Given the description of an element on the screen output the (x, y) to click on. 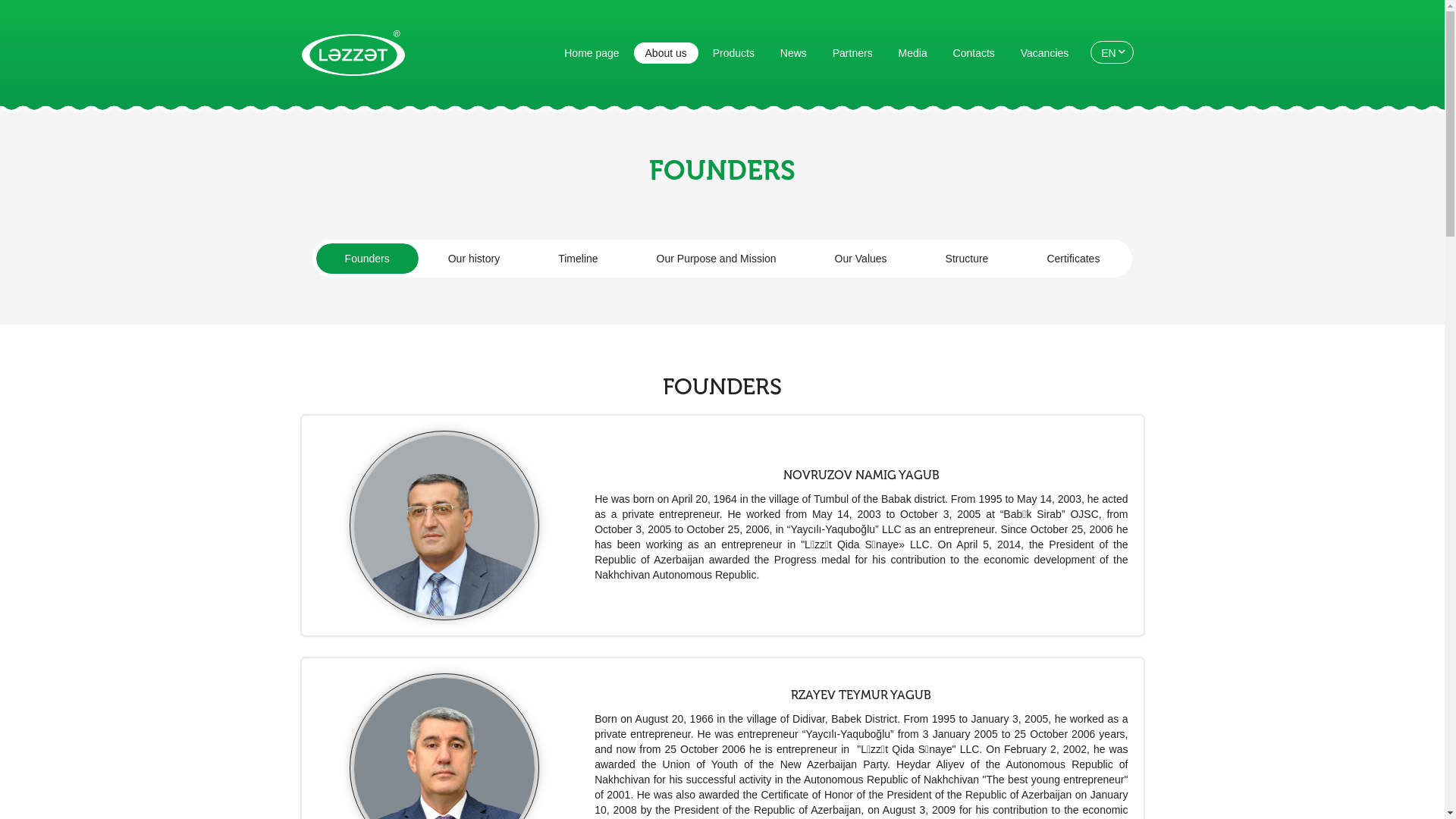
Founders Element type: text (367, 258)
Partners Element type: text (852, 53)
Structure Element type: text (966, 258)
Our Purpose and Mission Element type: text (716, 258)
Certificates Element type: text (1072, 258)
Our history Element type: text (473, 258)
News Element type: text (793, 53)
Timeline Element type: text (577, 258)
Media Element type: text (912, 53)
Products Element type: text (733, 53)
About us Element type: text (665, 53)
Contacts Element type: text (973, 53)
Home page Element type: text (591, 53)
Our Values Element type: text (861, 258)
Vacancies Element type: text (1044, 53)
